Given the description of an element on the screen output the (x, y) to click on. 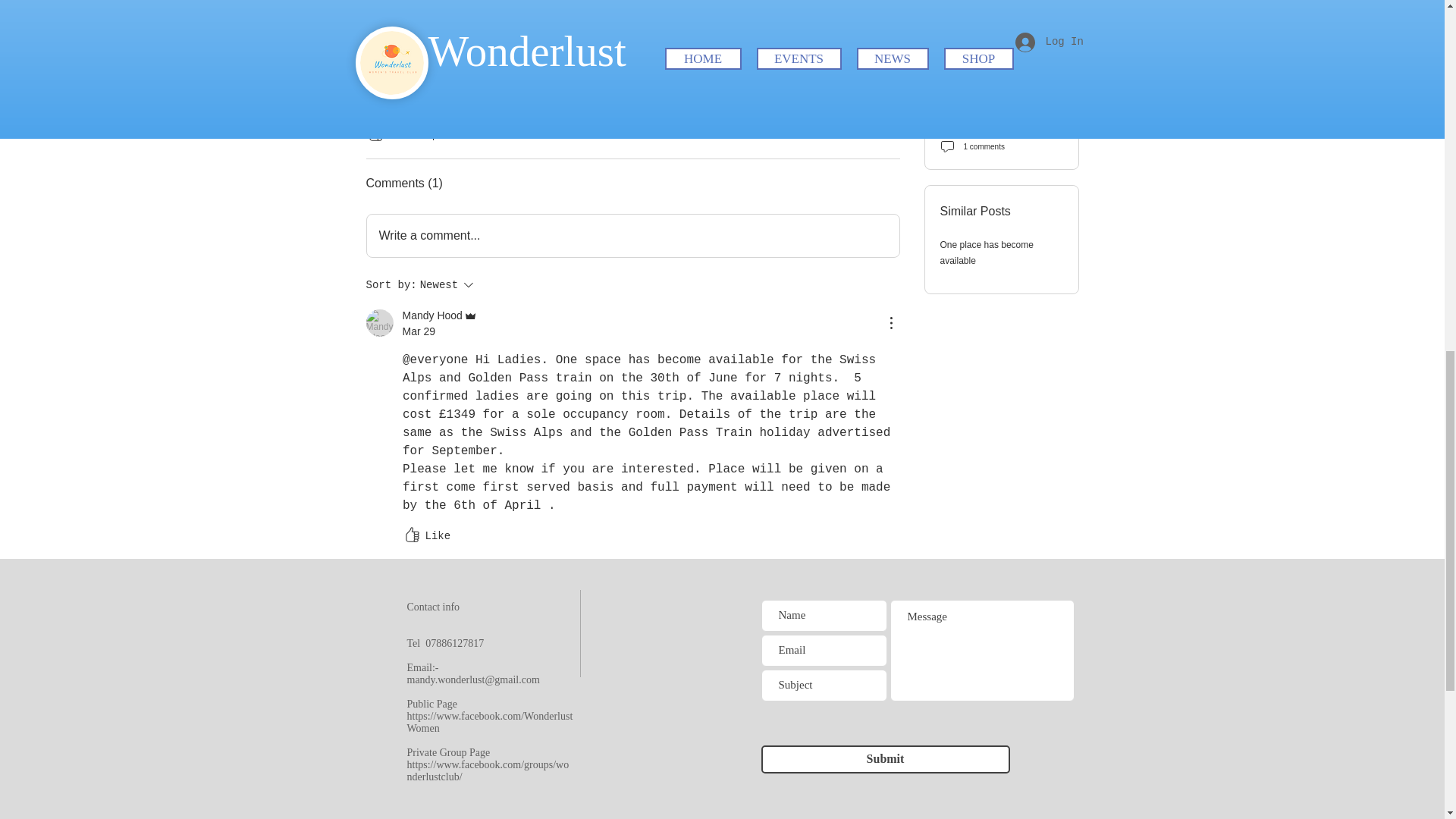
Share (457, 134)
Like (425, 536)
Submit (471, 285)
Mandy Hood (885, 759)
Like (440, 315)
Write a comment... (390, 134)
Mandy Hood (632, 235)
